Given the description of an element on the screen output the (x, y) to click on. 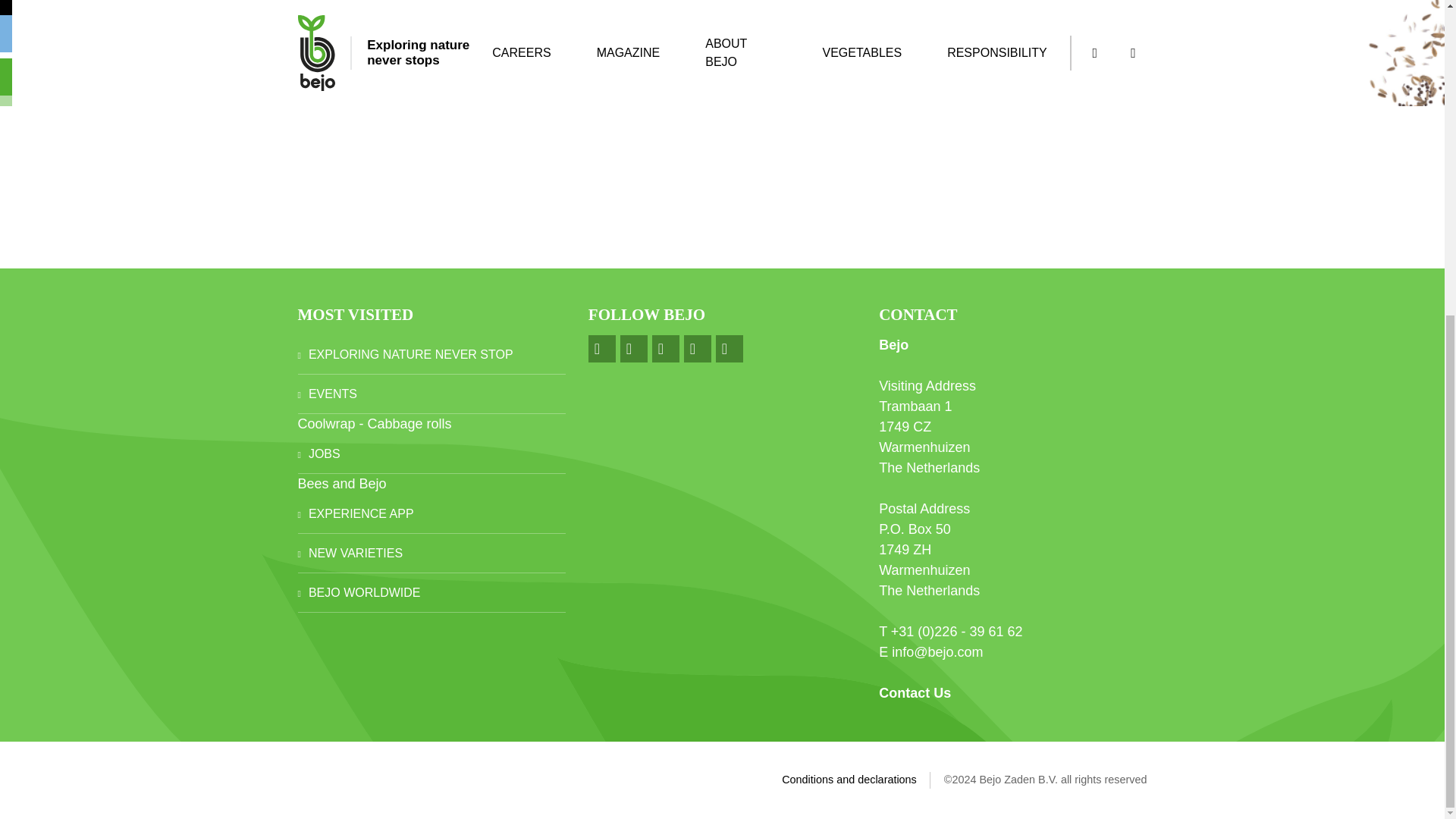
EVENTS (430, 394)
Contact form (914, 693)
Events (430, 394)
EXPLORING NATURE NEVER STOP (430, 354)
JOBS (430, 454)
EXPERIENCE APP (430, 513)
BEJO WORLDWIDE (430, 592)
NEW VARIETIES (430, 553)
